Given the description of an element on the screen output the (x, y) to click on. 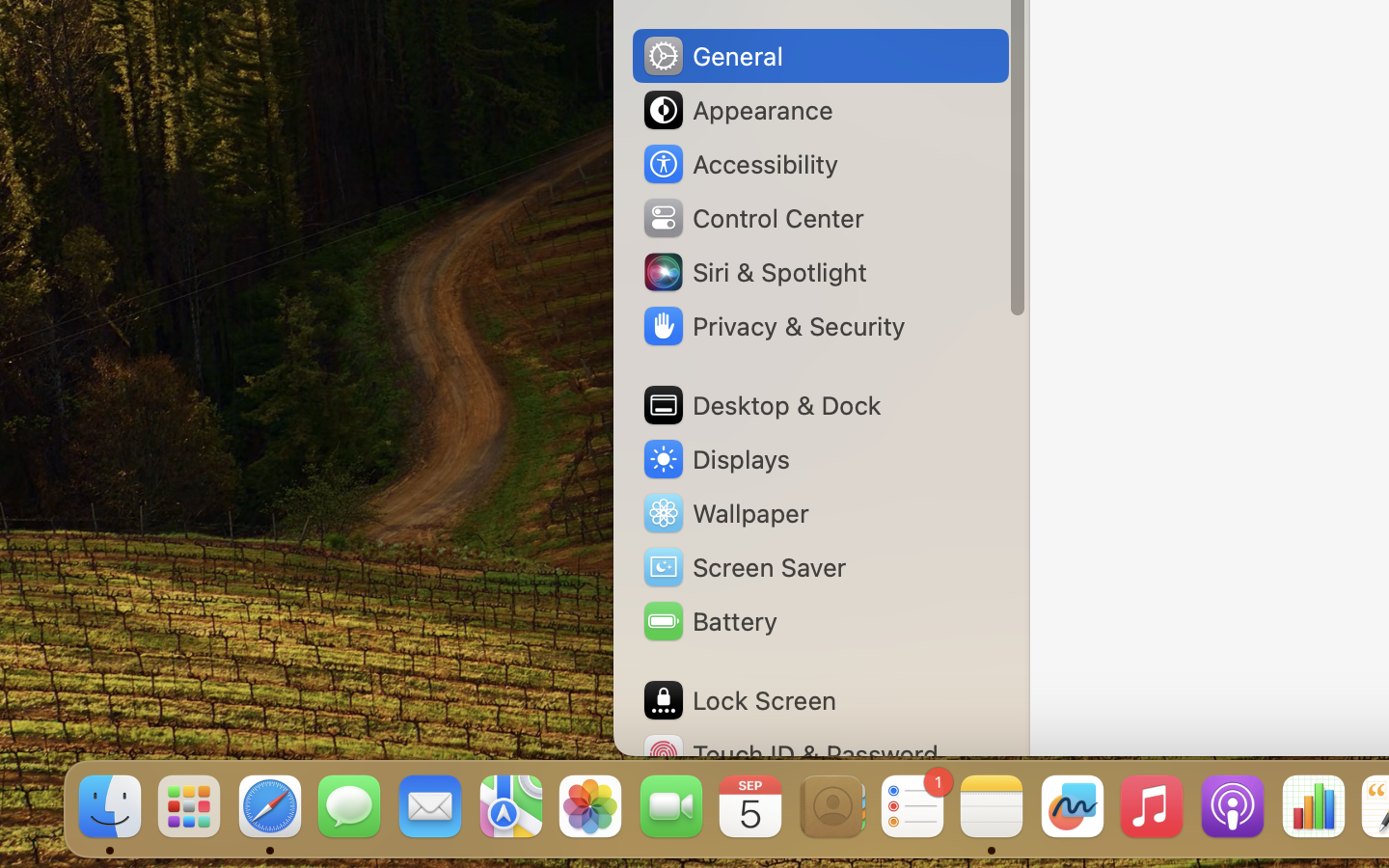
Control Center Element type: AXStaticText (752, 217)
Touch ID & Password Element type: AXStaticText (789, 754)
Battery Element type: AXStaticText (708, 620)
Displays Element type: AXStaticText (715, 458)
Desktop & Dock Element type: AXStaticText (760, 404)
